Given the description of an element on the screen output the (x, y) to click on. 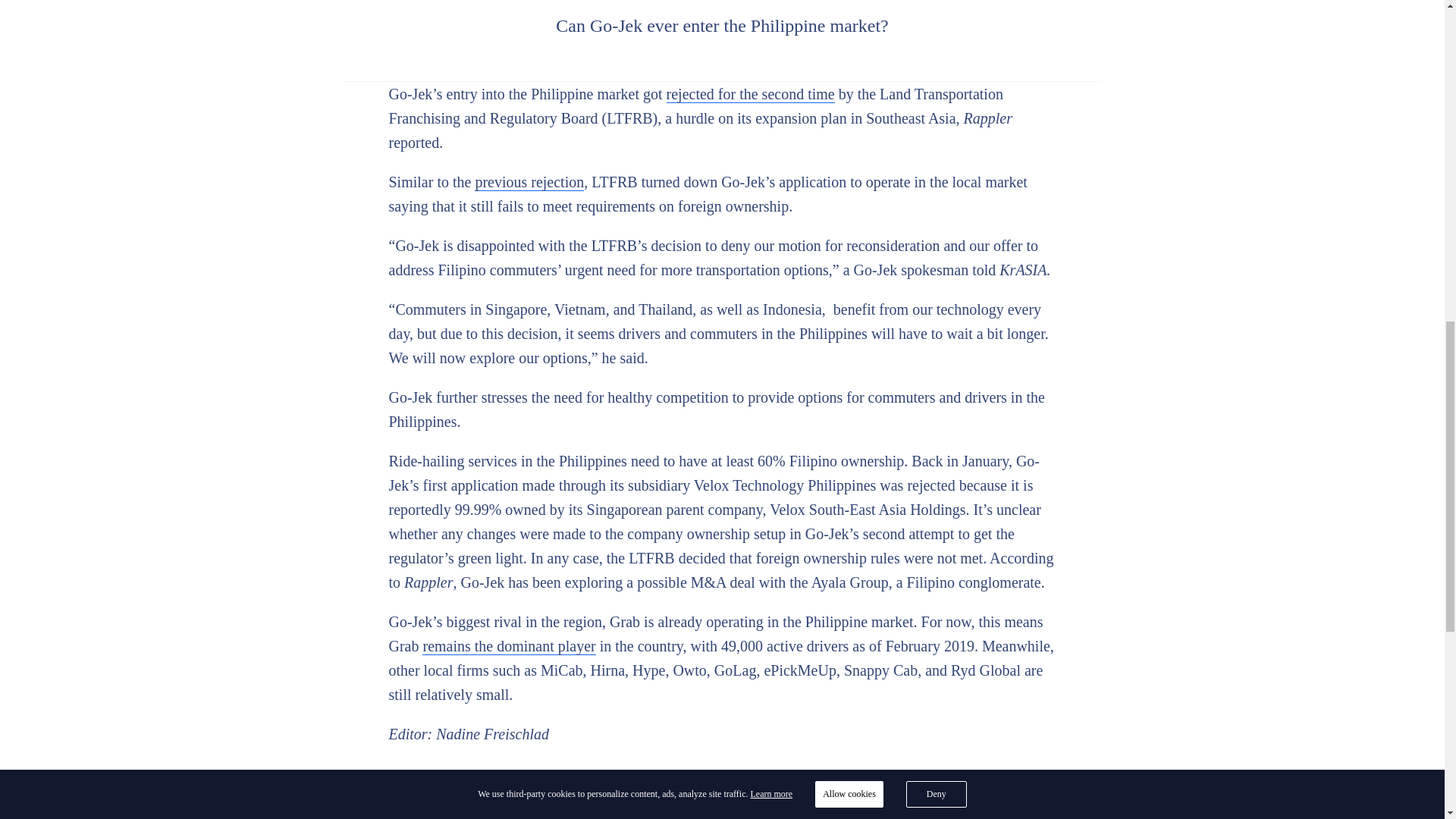
previous rejection (528, 181)
rejected for the second time (750, 94)
remains the dominant player (508, 646)
